Given the description of an element on the screen output the (x, y) to click on. 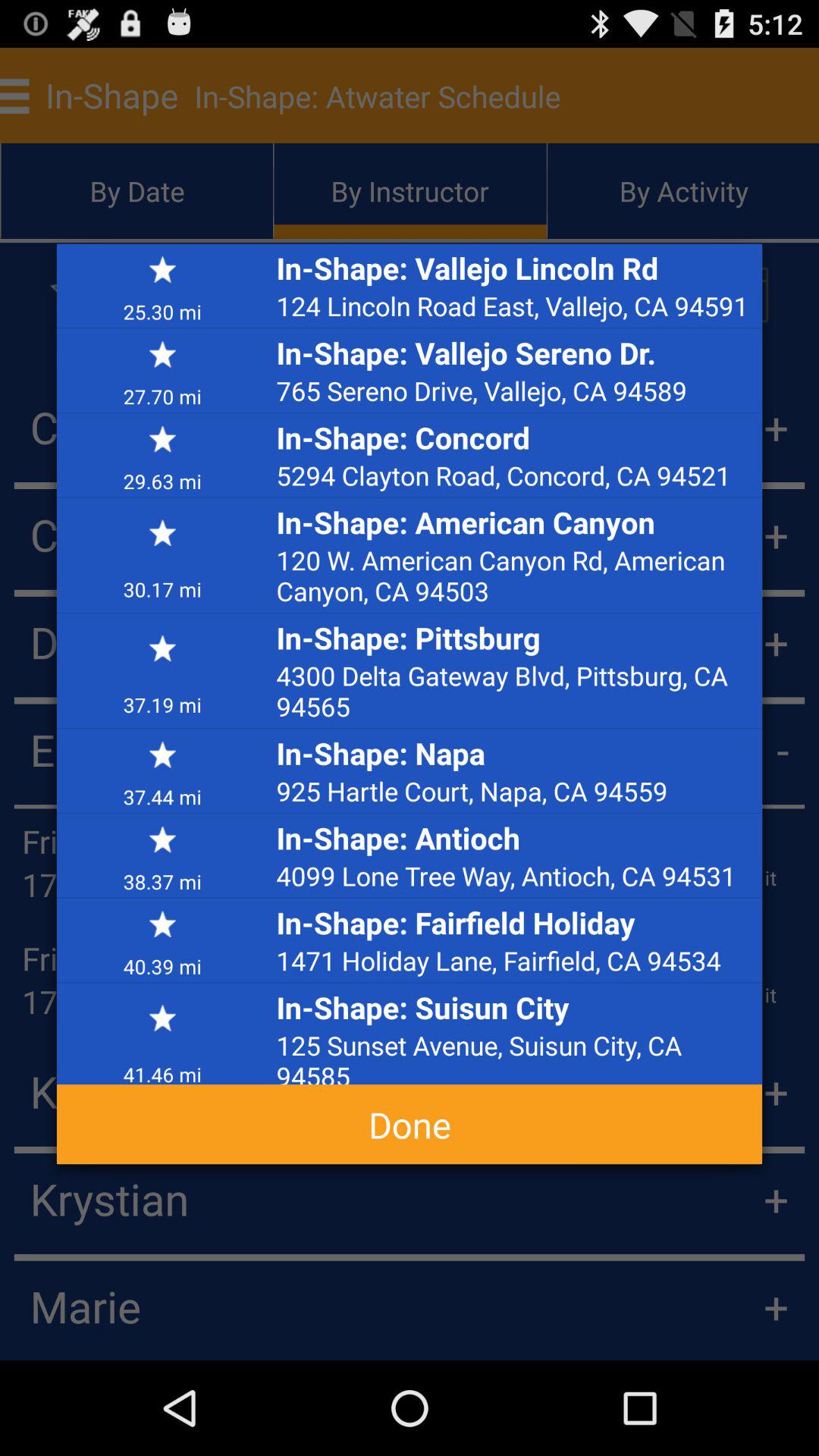
select app below 41.46 mi (409, 1124)
